Given the description of an element on the screen output the (x, y) to click on. 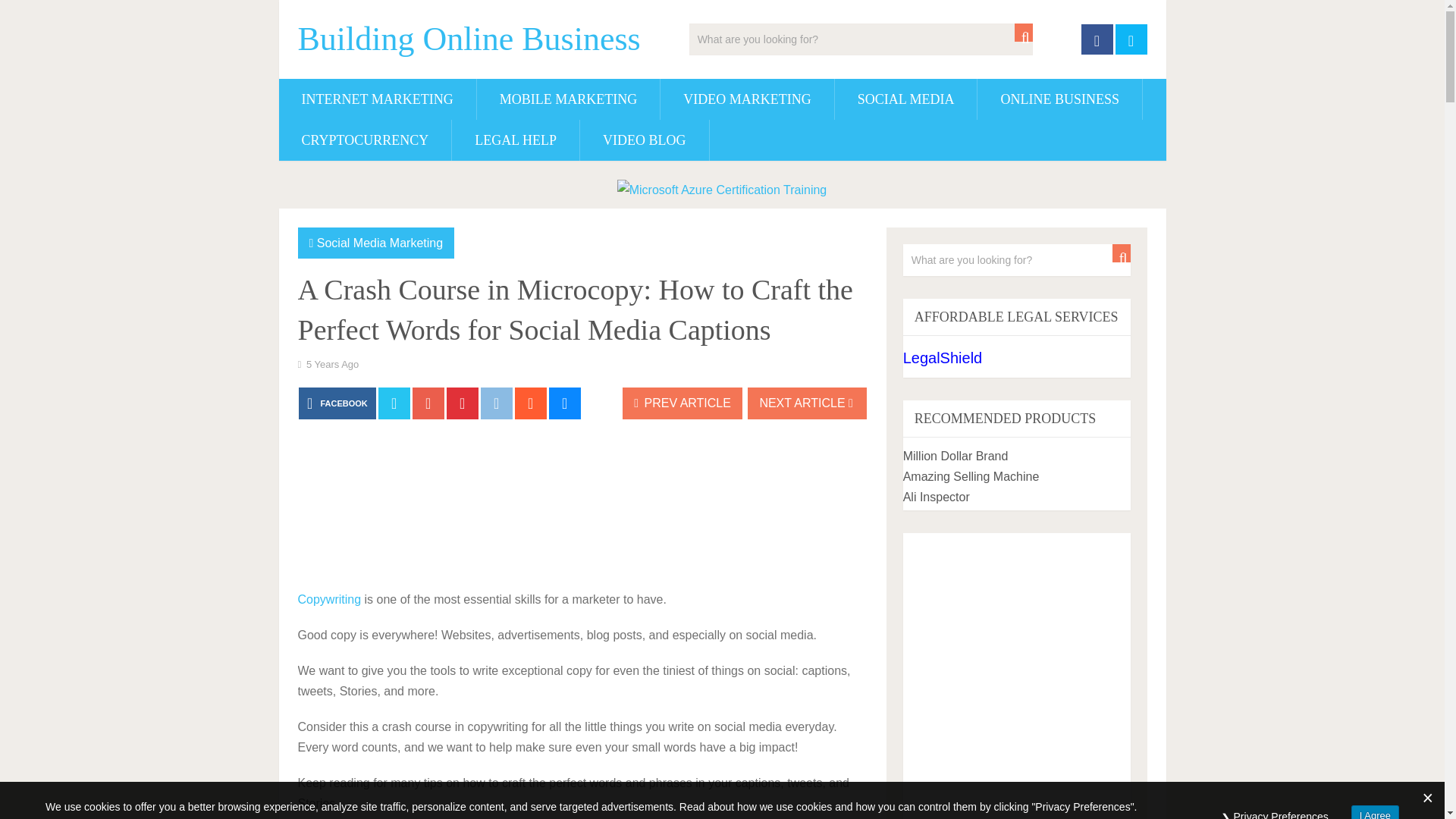
NEXT ARTICLE (807, 403)
LEGAL HELP (515, 139)
VIDEO MARKETING (746, 98)
FACEBOOK (336, 403)
SOCIAL MEDIA (905, 98)
Building Online Business (468, 39)
INTERNET MARKETING (377, 98)
Social Media Marketing (379, 242)
MOBILE MARKETING (569, 98)
ONLINE BUSINESS (1058, 98)
